Given the description of an element on the screen output the (x, y) to click on. 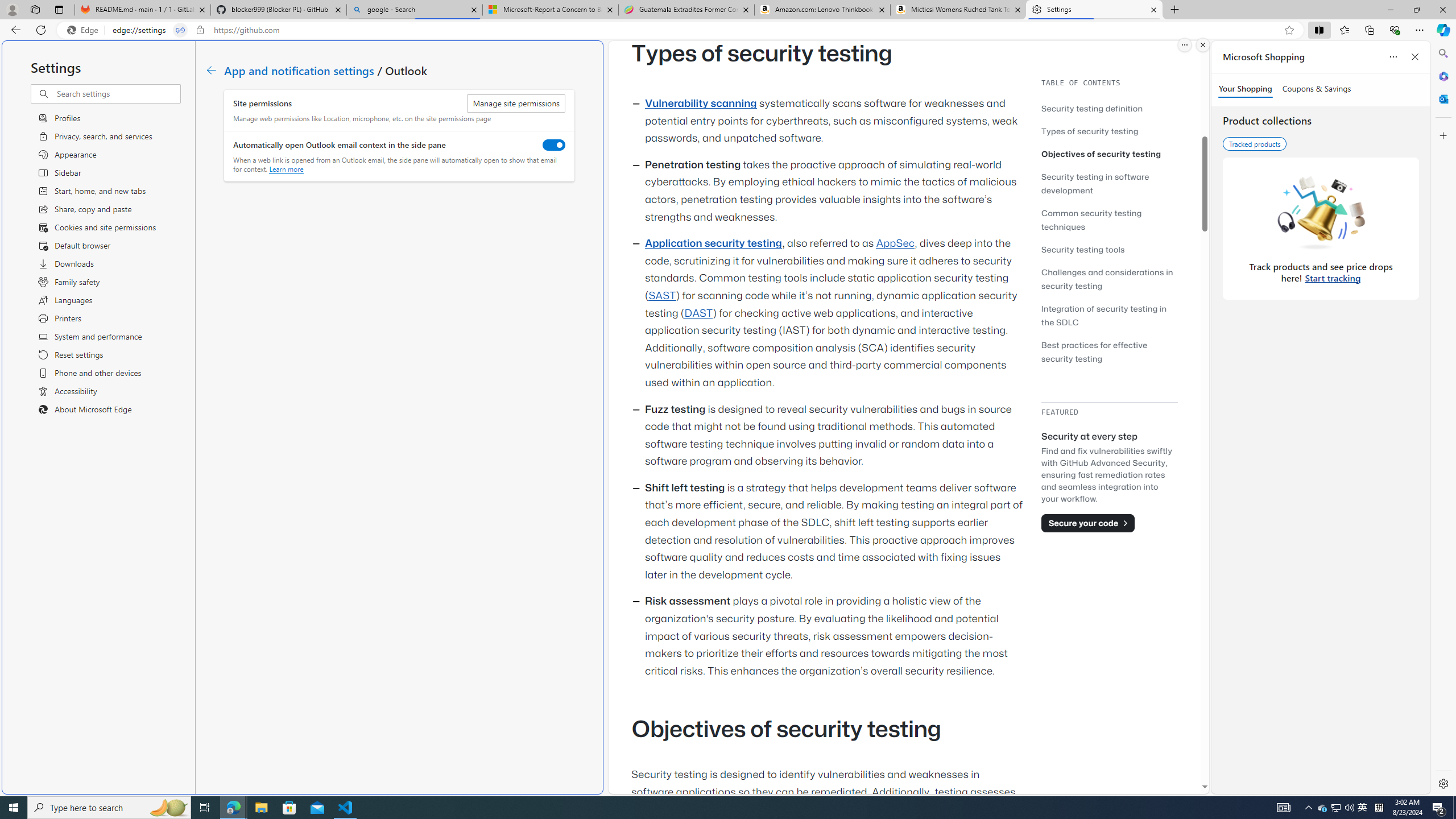
Automatically open Outlook email context in the side pane (553, 144)
Edge (84, 29)
Go back to App and notification settings page. (210, 70)
Outlook (1442, 98)
SAST (661, 295)
Challenges and considerations in security testing (1107, 278)
Challenges and considerations in security testing (1109, 279)
Side bar (1443, 418)
Learn more (286, 168)
Security testing in software development (1109, 183)
